Given the description of an element on the screen output the (x, y) to click on. 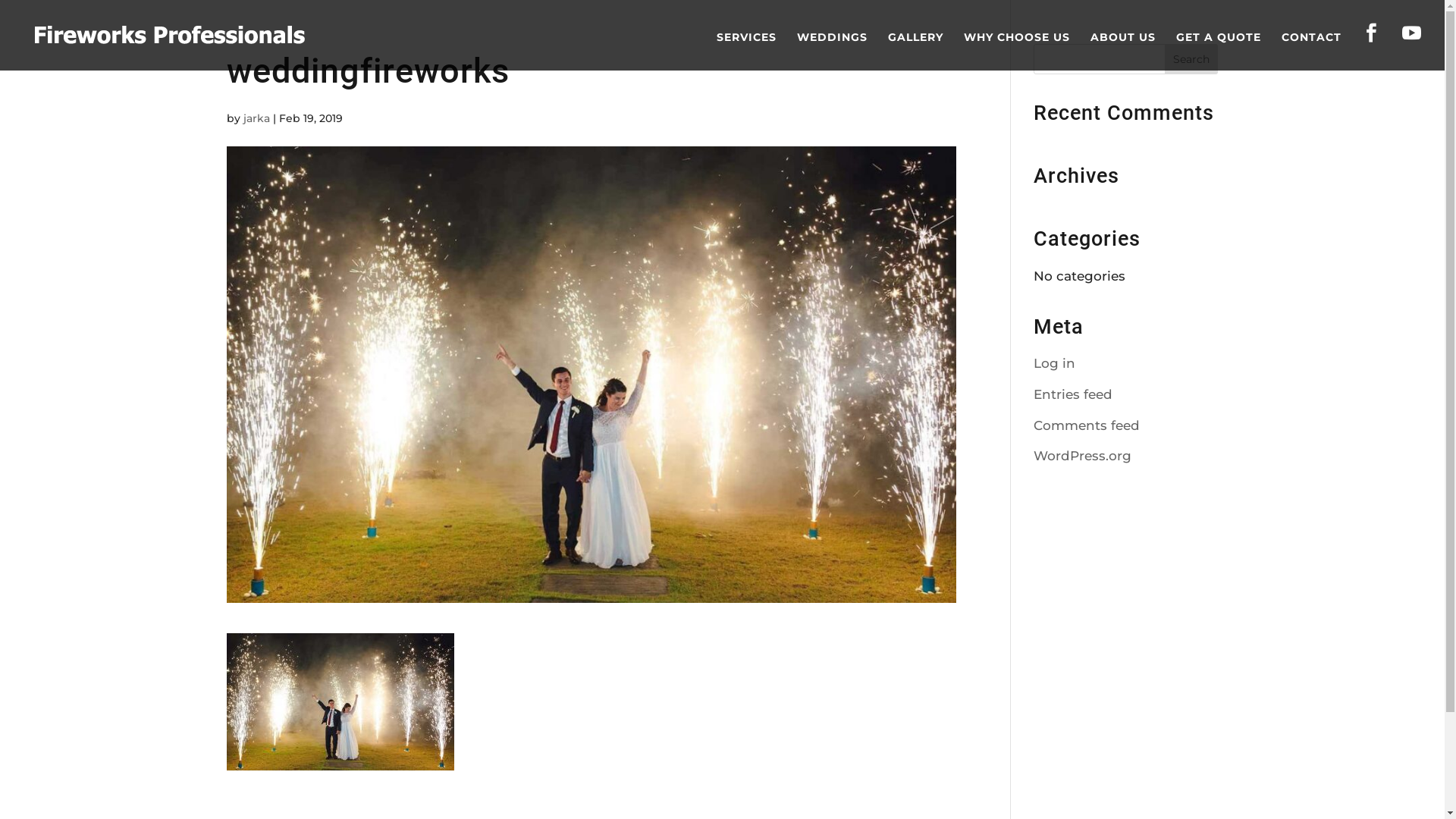
CONTACT Element type: text (1311, 50)
SERVICES Element type: text (746, 50)
WordPress.org Element type: text (1082, 455)
jarka Element type: text (256, 118)
ABOUT US Element type: text (1122, 50)
GET A QUOTE Element type: text (1218, 50)
WEDDINGS Element type: text (832, 50)
Log in Element type: text (1054, 362)
Entries feed Element type: text (1072, 393)
Search Element type: text (1190, 58)
WHY CHOOSE US Element type: text (1016, 50)
GALLERY Element type: text (915, 50)
Comments feed Element type: text (1086, 425)
